Given the description of an element on the screen output the (x, y) to click on. 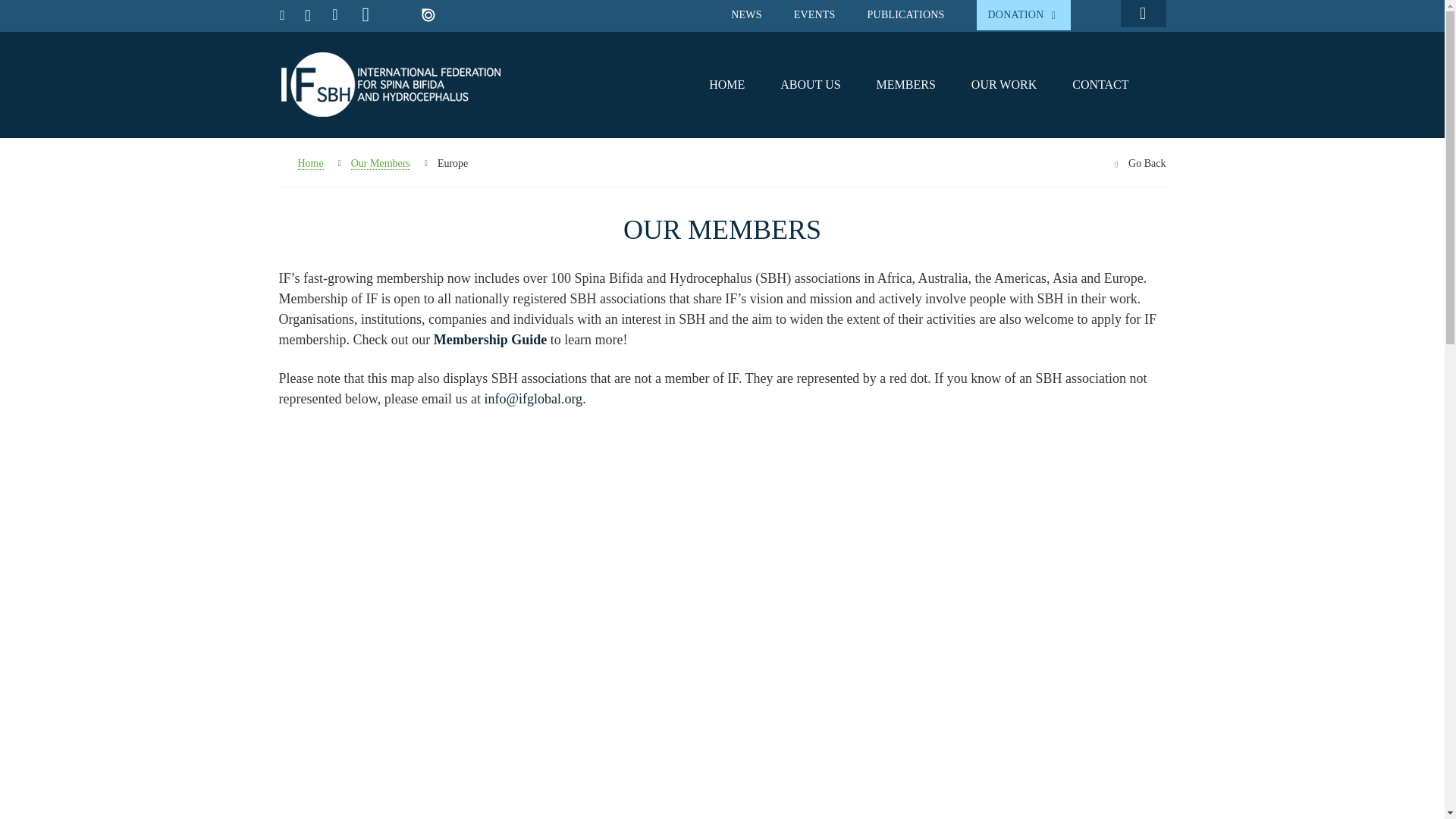
Go to Home. (301, 163)
NEWS (745, 14)
DONATION (1023, 15)
Home (301, 163)
Go to Our Members. (380, 163)
ABOUT US (810, 83)
Go Back (1147, 163)
Twitter (307, 16)
Youtube (365, 14)
CONTACT (1099, 83)
Instagram (396, 17)
HOME (726, 83)
PUBLICATIONS (905, 14)
Our Members (380, 163)
Search (1142, 15)
